Given the description of an element on the screen output the (x, y) to click on. 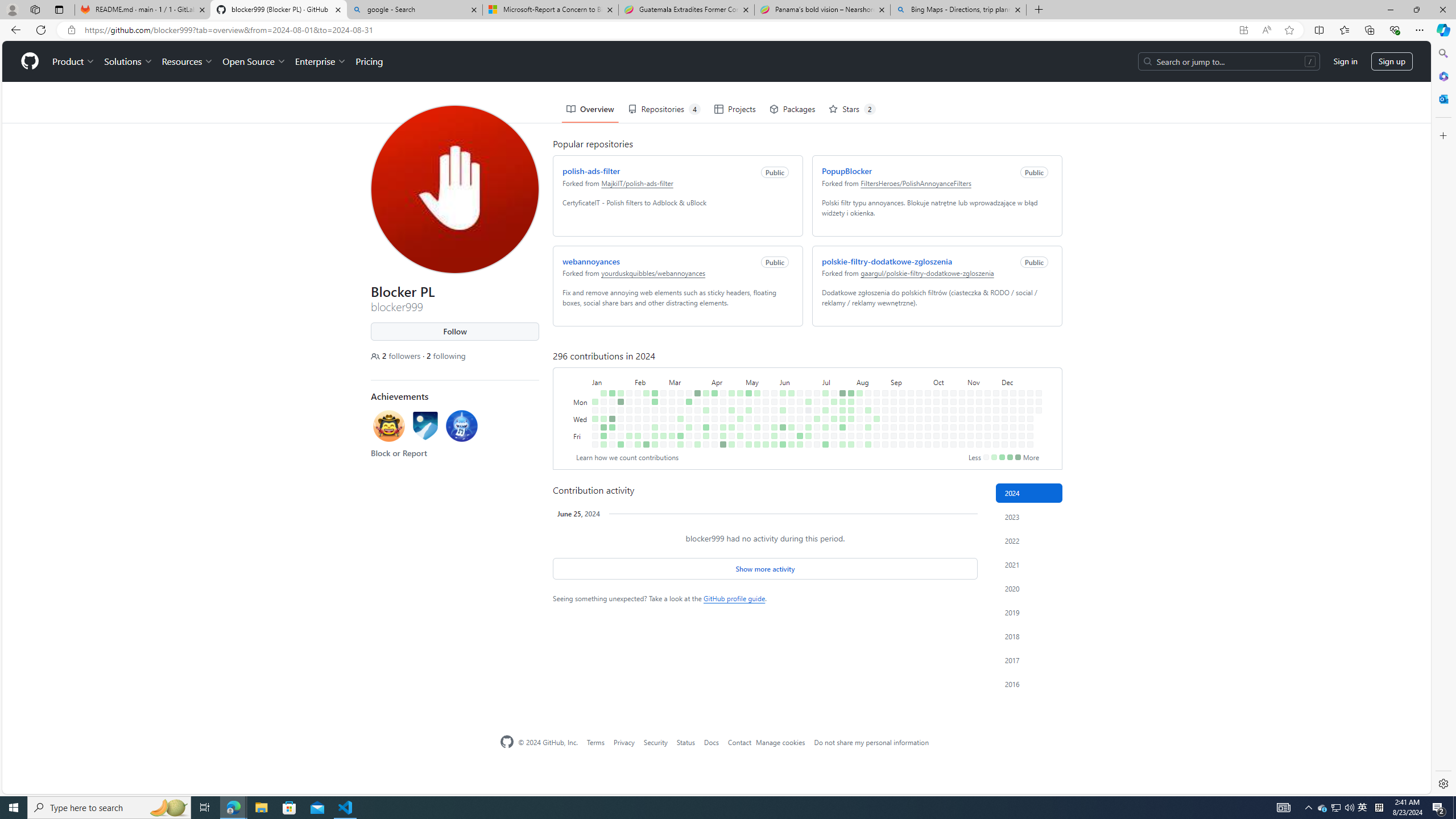
No contributions on January 31st. (627, 377)
No contributions on May 20th. (763, 360)
No contributions on April 11th. (711, 386)
No contributions on October 16th. (942, 377)
Day of Week (579, 339)
No contributions on October 20th. (950, 351)
1 contribution on January 1st. (592, 360)
5 contributions on April 7th. (711, 351)
No contributions on November 22nd. (987, 435)
No contributions on December 8th. (1010, 351)
No contributions on December 17th. (1019, 369)
6 contributions on June 8th. (783, 444)
No contributions on February 29th. (660, 386)
